Given the description of an element on the screen output the (x, y) to click on. 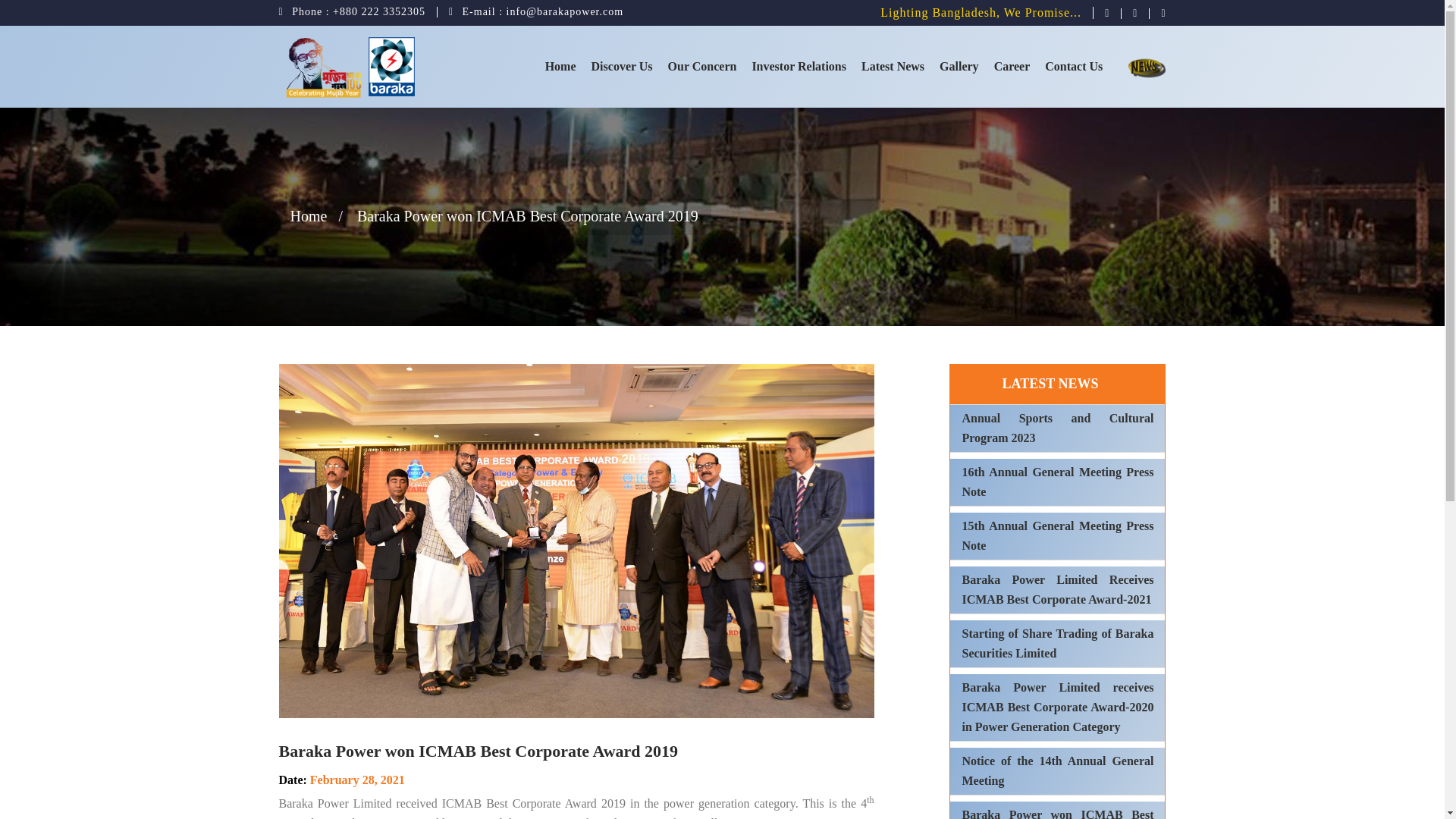
Investor Relations (798, 66)
Our Concern (702, 66)
Discover Us (622, 66)
Career (1012, 66)
Home (560, 66)
Home (560, 66)
Discover Us (622, 66)
Baraka Power Limited (393, 66)
Our Concern (702, 66)
Gallery (959, 66)
Latest News (892, 66)
